Given the description of an element on the screen output the (x, y) to click on. 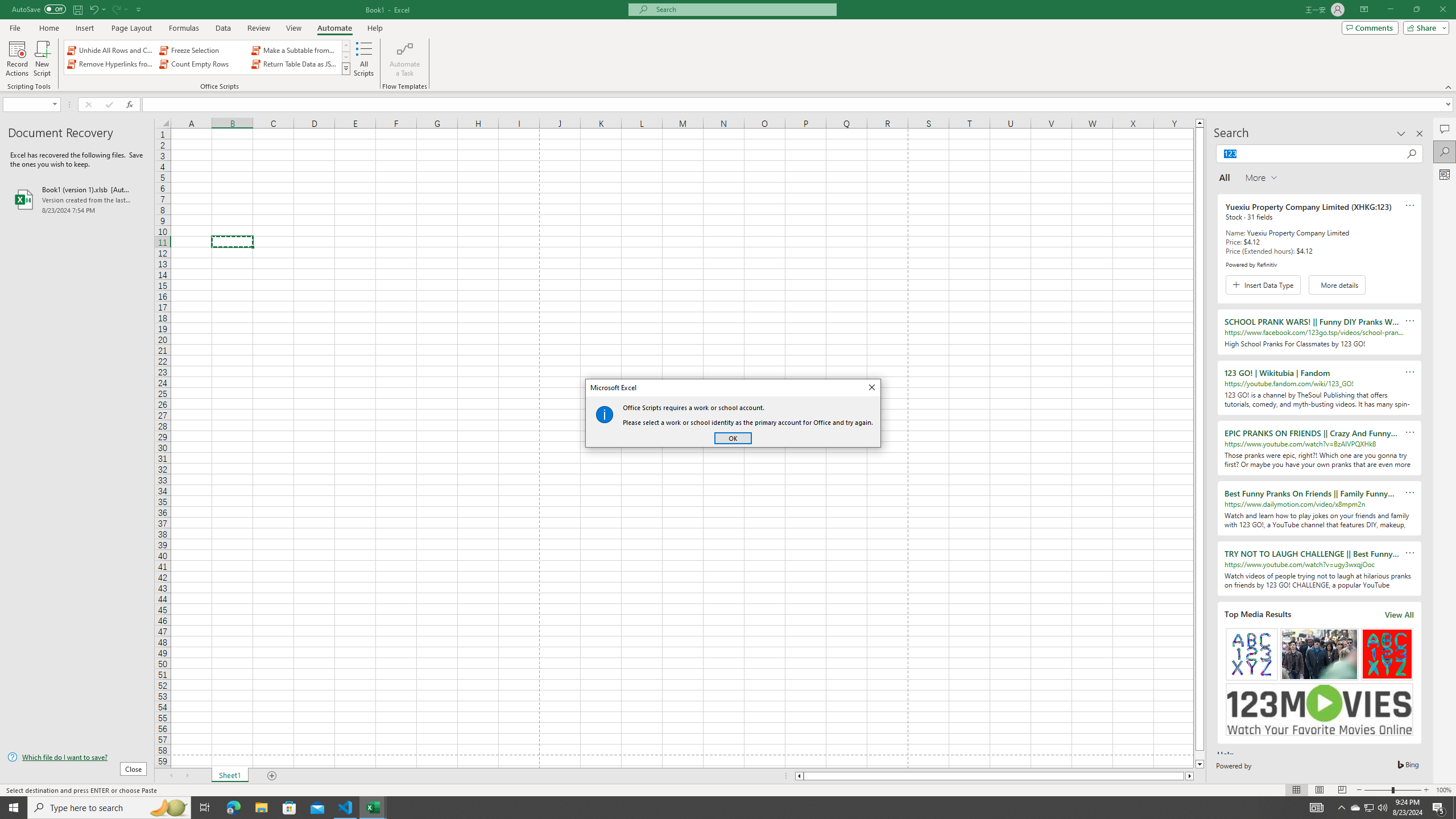
Freeze Selection (202, 50)
Visual Studio Code - 1 running window (345, 807)
OK (732, 437)
